Given the description of an element on the screen output the (x, y) to click on. 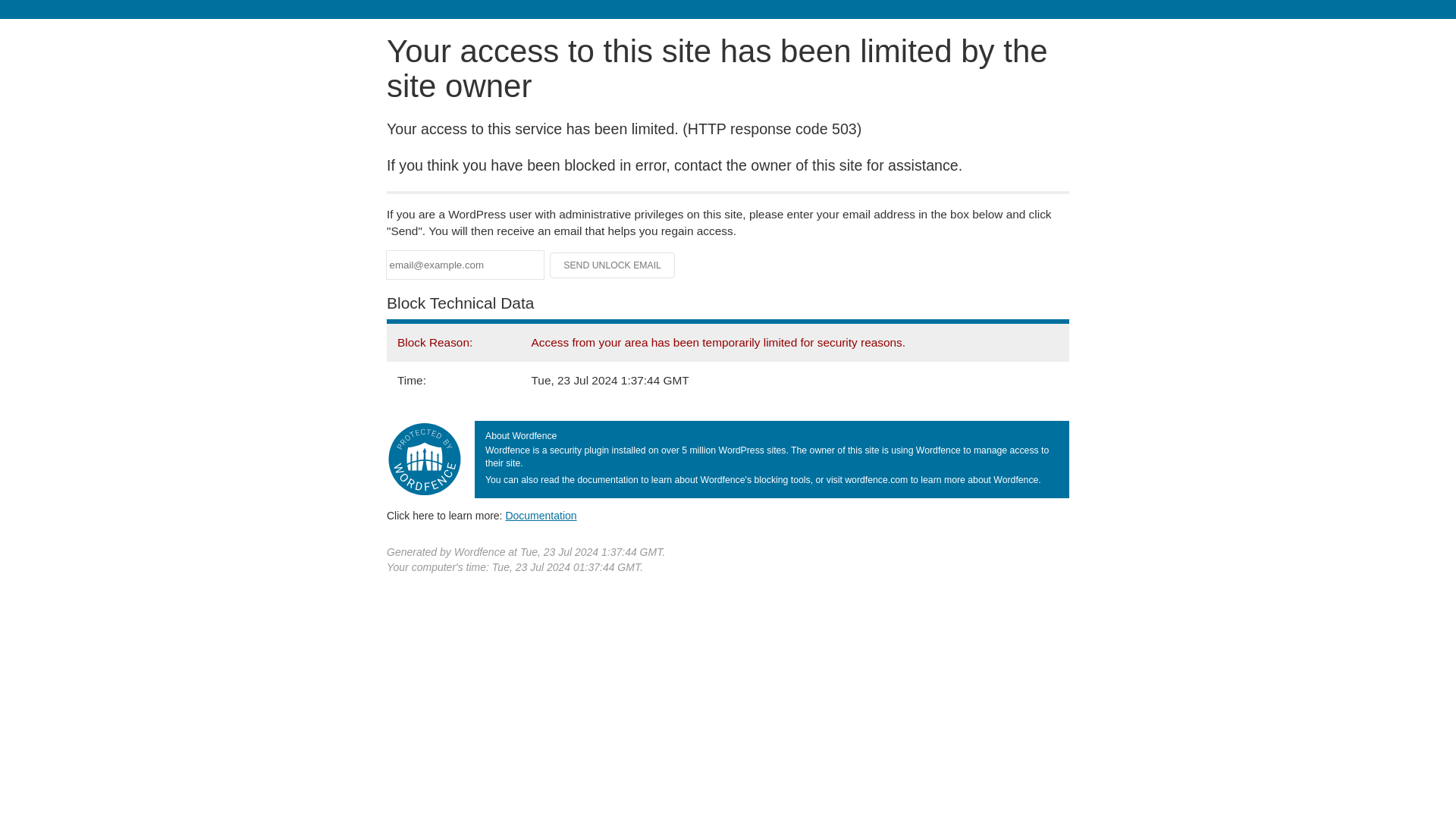
Send Unlock Email (612, 265)
Documentation (540, 515)
Send Unlock Email (612, 265)
